Given the description of an element on the screen output the (x, y) to click on. 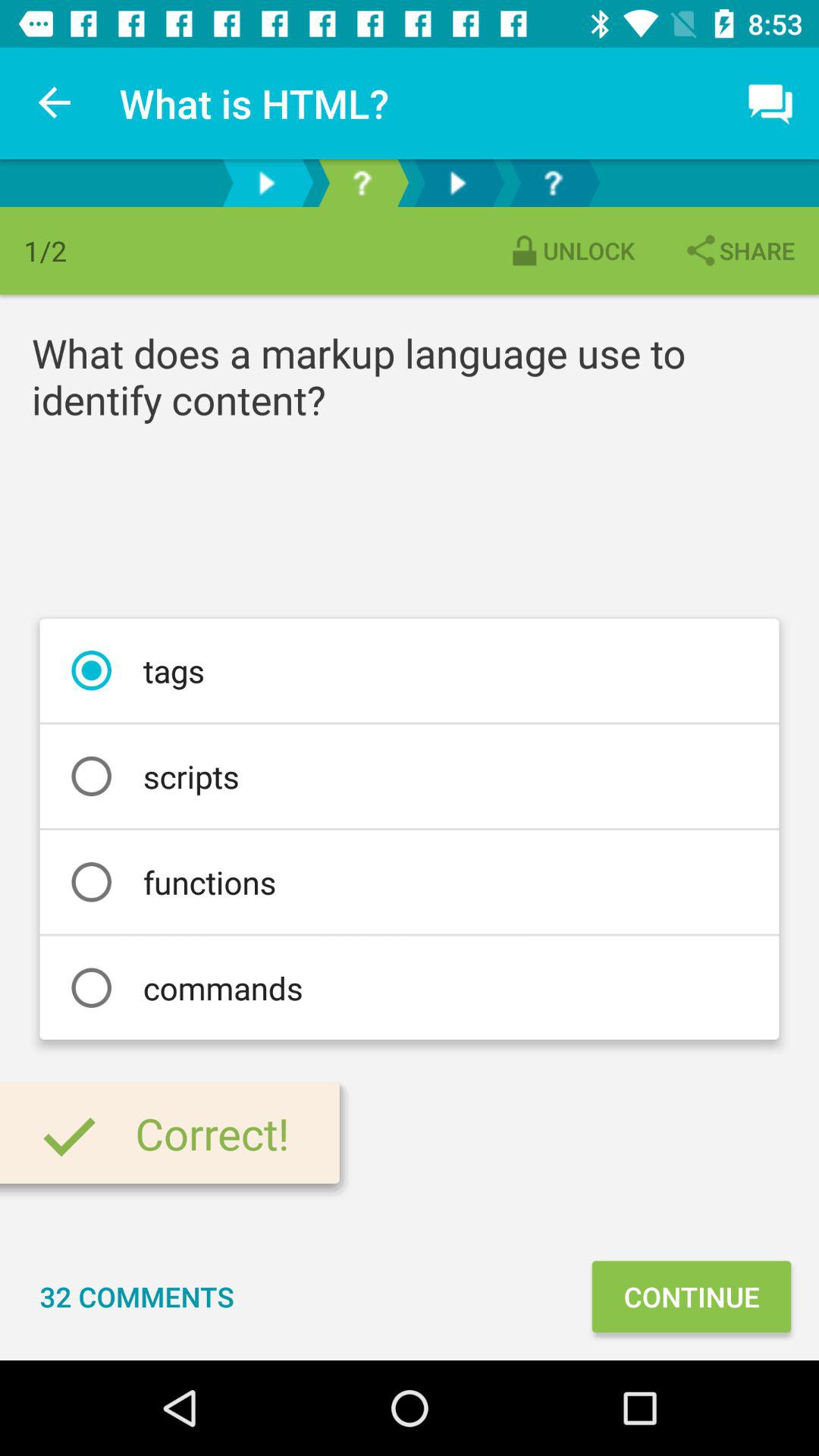
press the icon below the commands icon (691, 1296)
